Given the description of an element on the screen output the (x, y) to click on. 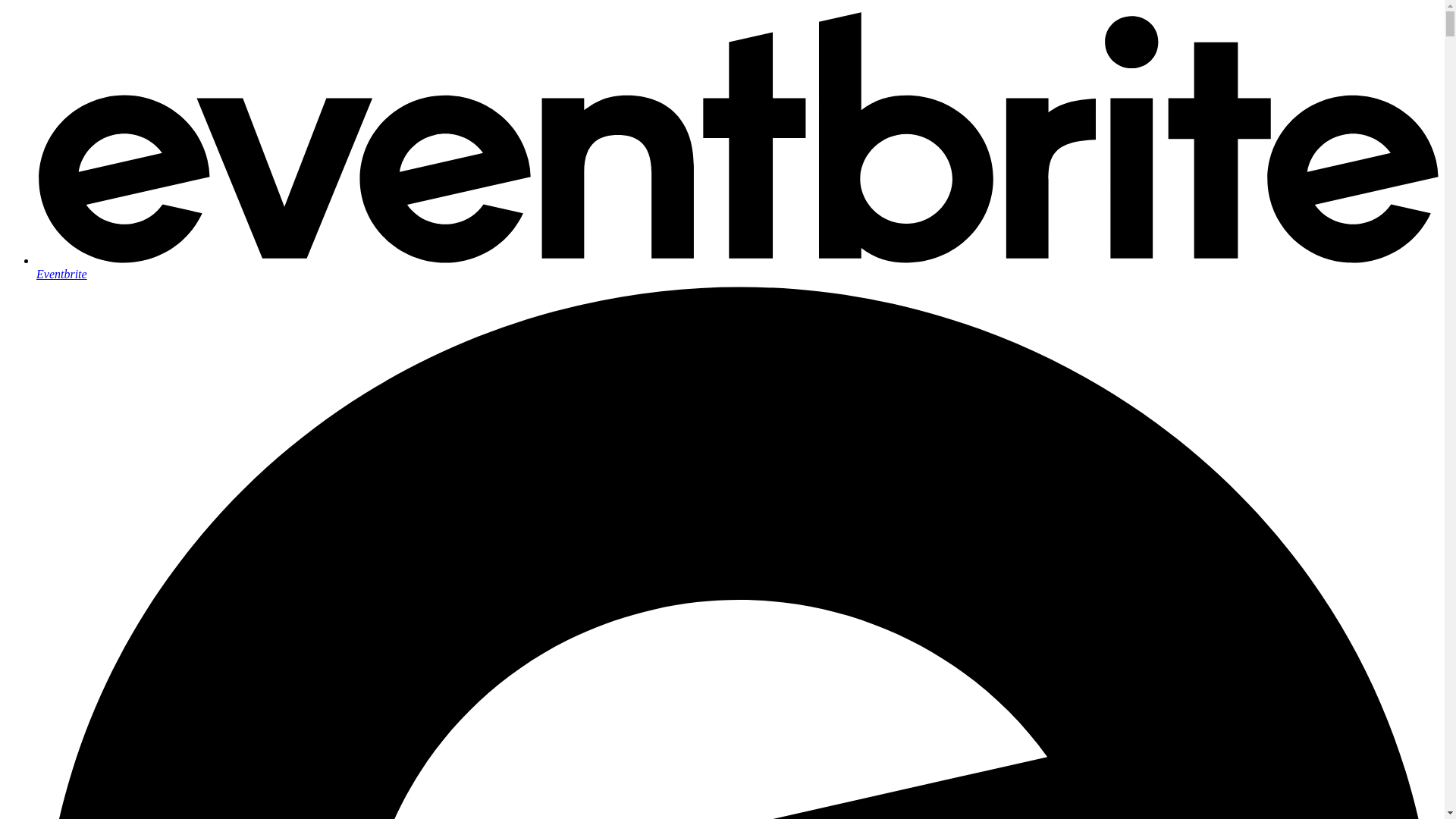
Eventbrite Element type: text (737, 267)
